Given the description of an element on the screen output the (x, y) to click on. 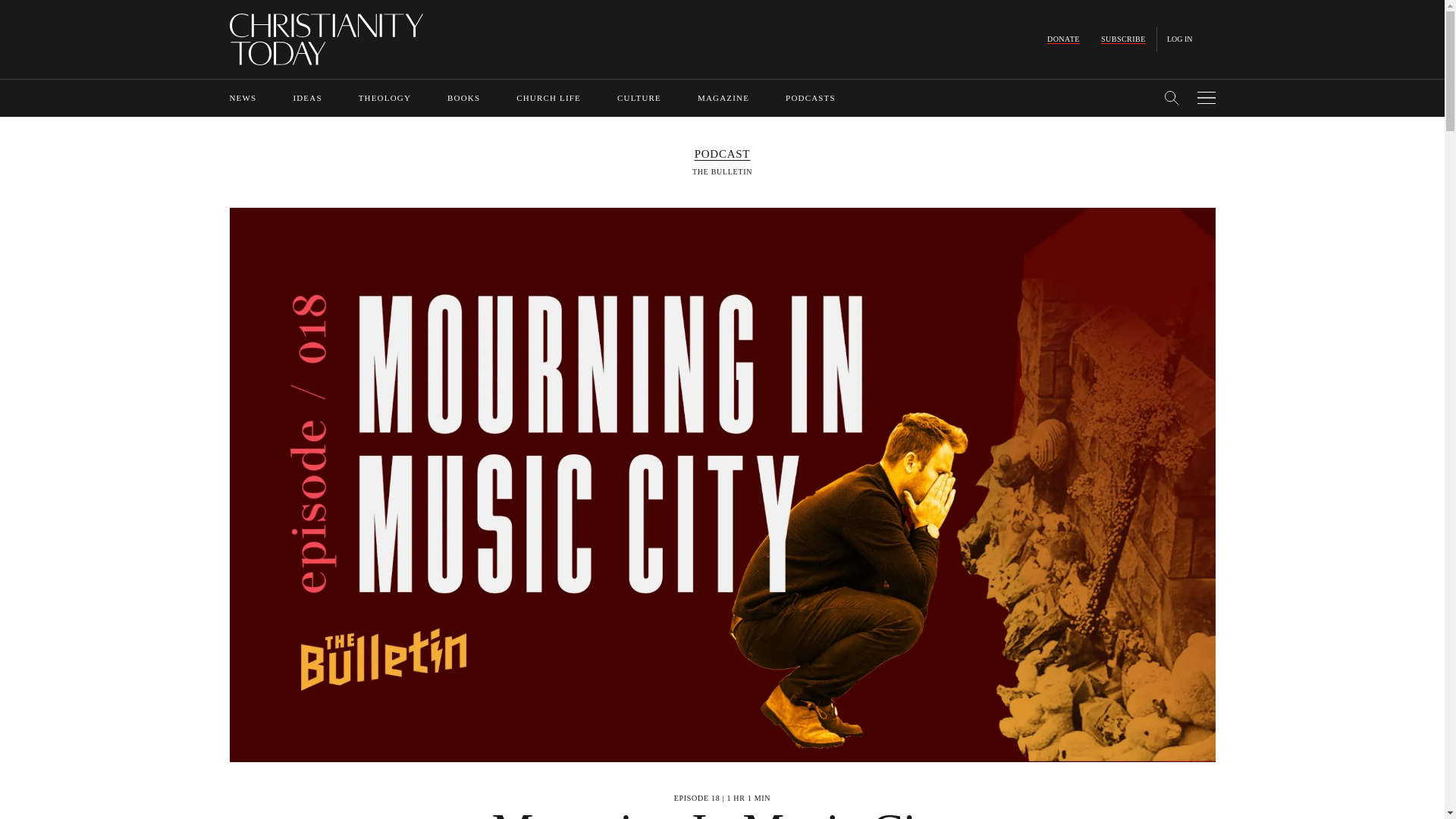
CHURCH LIFE (548, 97)
PODCASTS (810, 97)
SUBSCRIBE (1122, 39)
MAGAZINE (723, 97)
IDEAS (306, 97)
CULTURE (639, 97)
DONATE (1063, 39)
NEWS (242, 97)
BOOKS (463, 97)
LOG IN (1179, 39)
